Given the description of an element on the screen output the (x, y) to click on. 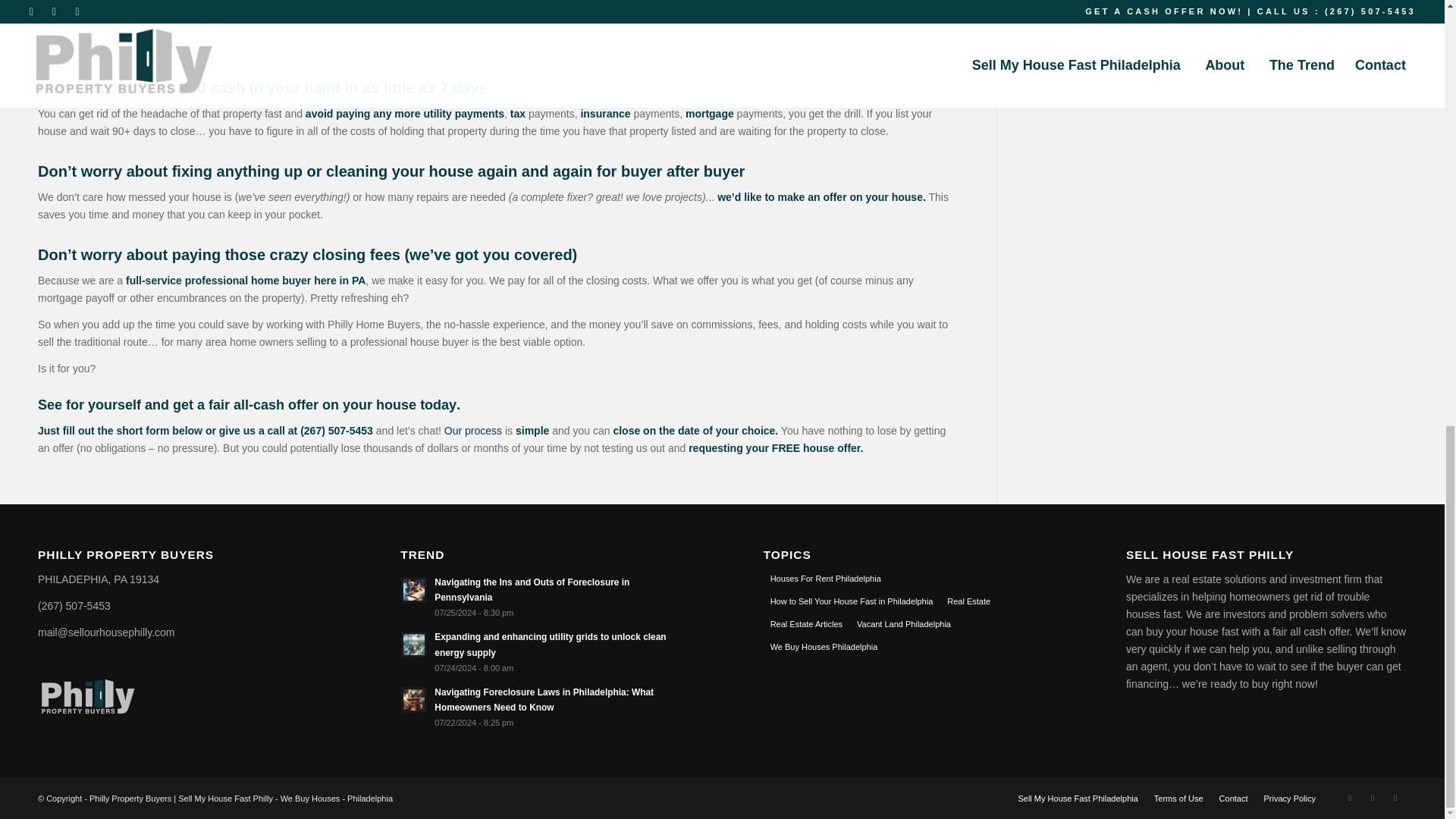
Our process (473, 430)
